Given the description of an element on the screen output the (x, y) to click on. 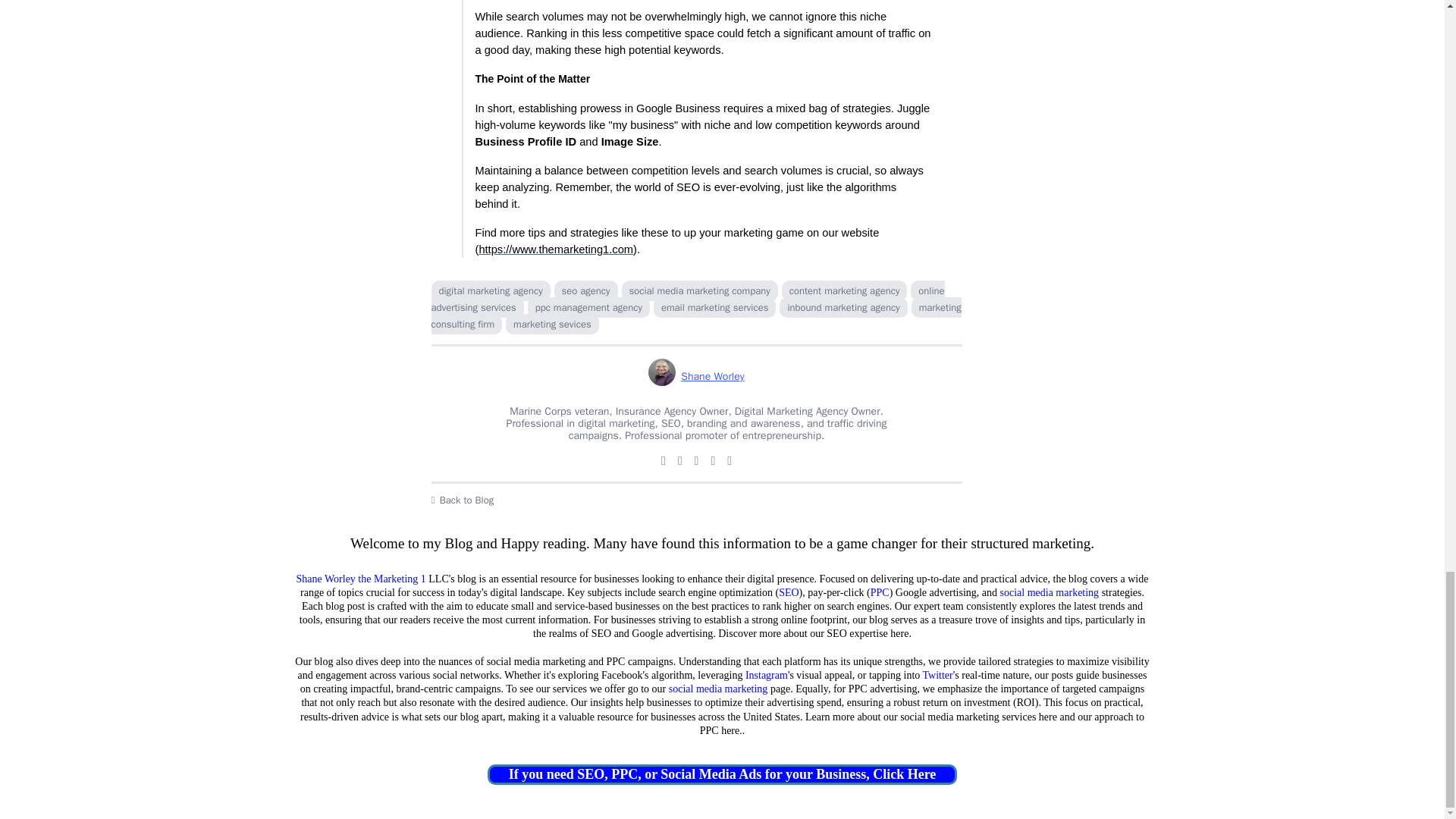
Instagram (766, 674)
social media marketing (1048, 592)
Shane Worley (695, 376)
Back to Blog (695, 499)
PPC (879, 592)
SEO (787, 592)
Twitter (938, 674)
social media marketing (718, 688)
Shane Worley the Marketing 1 (361, 578)
